Given the description of an element on the screen output the (x, y) to click on. 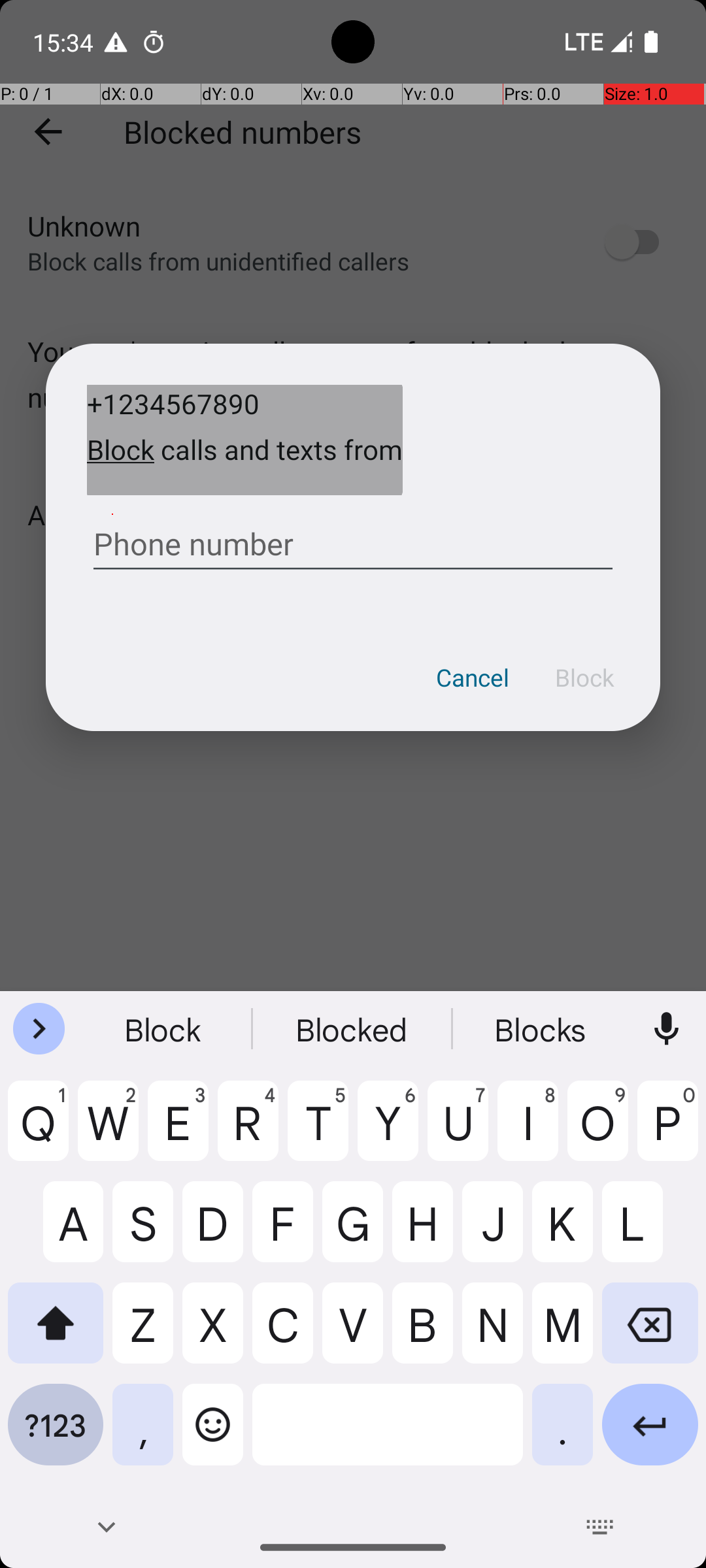
+1234567890
Block calls and texts from Element type: android.widget.TextView (244, 439)
Phone number Element type: android.widget.EditText (352, 538)
Block Element type: android.widget.Button (584, 677)
Open features menu Element type: android.widget.FrameLayout (39, 1028)
Blocked Element type: android.widget.FrameLayout (352, 1028)
Blocks Element type: android.widget.FrameLayout (541, 1028)
Voice input Element type: android.widget.FrameLayout (666, 1028)
Q Element type: android.widget.FrameLayout (38, 1130)
E Element type: android.widget.FrameLayout (178, 1130)
R Element type: android.widget.FrameLayout (248, 1130)
Y Element type: android.widget.FrameLayout (387, 1130)
U Element type: android.widget.FrameLayout (457, 1130)
I Element type: android.widget.FrameLayout (527, 1130)
O Element type: android.widget.FrameLayout (597, 1130)
P Element type: android.widget.FrameLayout (667, 1130)
A Element type: android.widget.FrameLayout (55, 1231)
D Element type: android.widget.FrameLayout (212, 1231)
G Element type: android.widget.FrameLayout (352, 1231)
H Element type: android.widget.FrameLayout (422, 1231)
J Element type: android.widget.FrameLayout (492, 1231)
K Element type: android.widget.FrameLayout (562, 1231)
L Element type: android.widget.FrameLayout (649, 1231)
Z Element type: android.widget.FrameLayout (142, 1332)
X Element type: android.widget.FrameLayout (212, 1332)
C Element type: android.widget.FrameLayout (282, 1332)
V Element type: android.widget.FrameLayout (352, 1332)
B Element type: android.widget.FrameLayout (422, 1332)
N Element type: android.widget.FrameLayout (492, 1332)
Emoji button Element type: android.widget.FrameLayout (212, 1434)
Enter Element type: android.widget.FrameLayout (649, 1434)
